Given the description of an element on the screen output the (x, y) to click on. 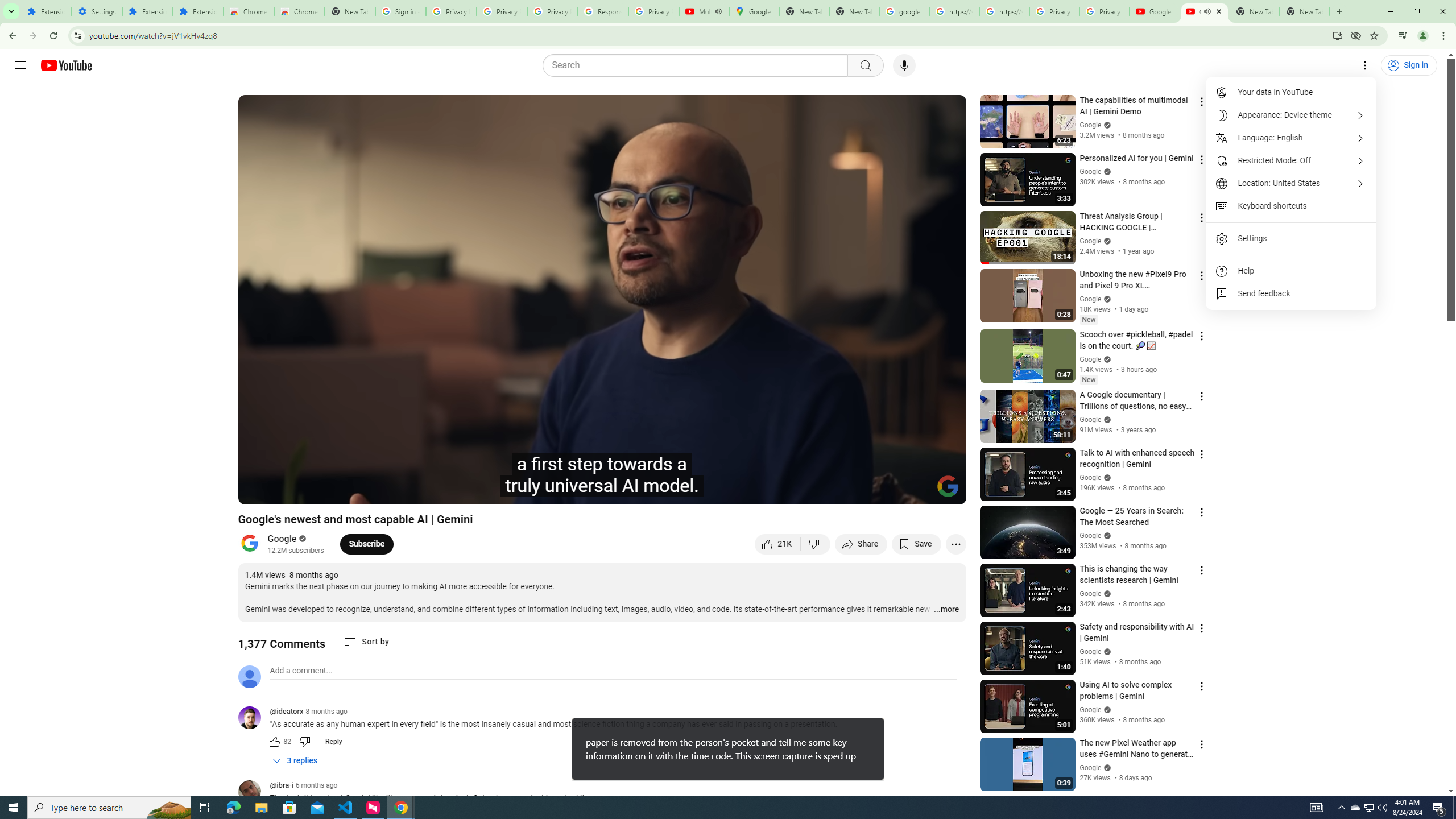
Google - YouTube (1154, 11)
Autoplay is on (808, 490)
Miniplayer (i) (890, 490)
Extensions (46, 11)
https://scholar.google.com/ (1004, 11)
@ibra-i (253, 792)
Dislike this video (815, 543)
Channel watermark (947, 486)
Verified (1106, 767)
